Given the description of an element on the screen output the (x, y) to click on. 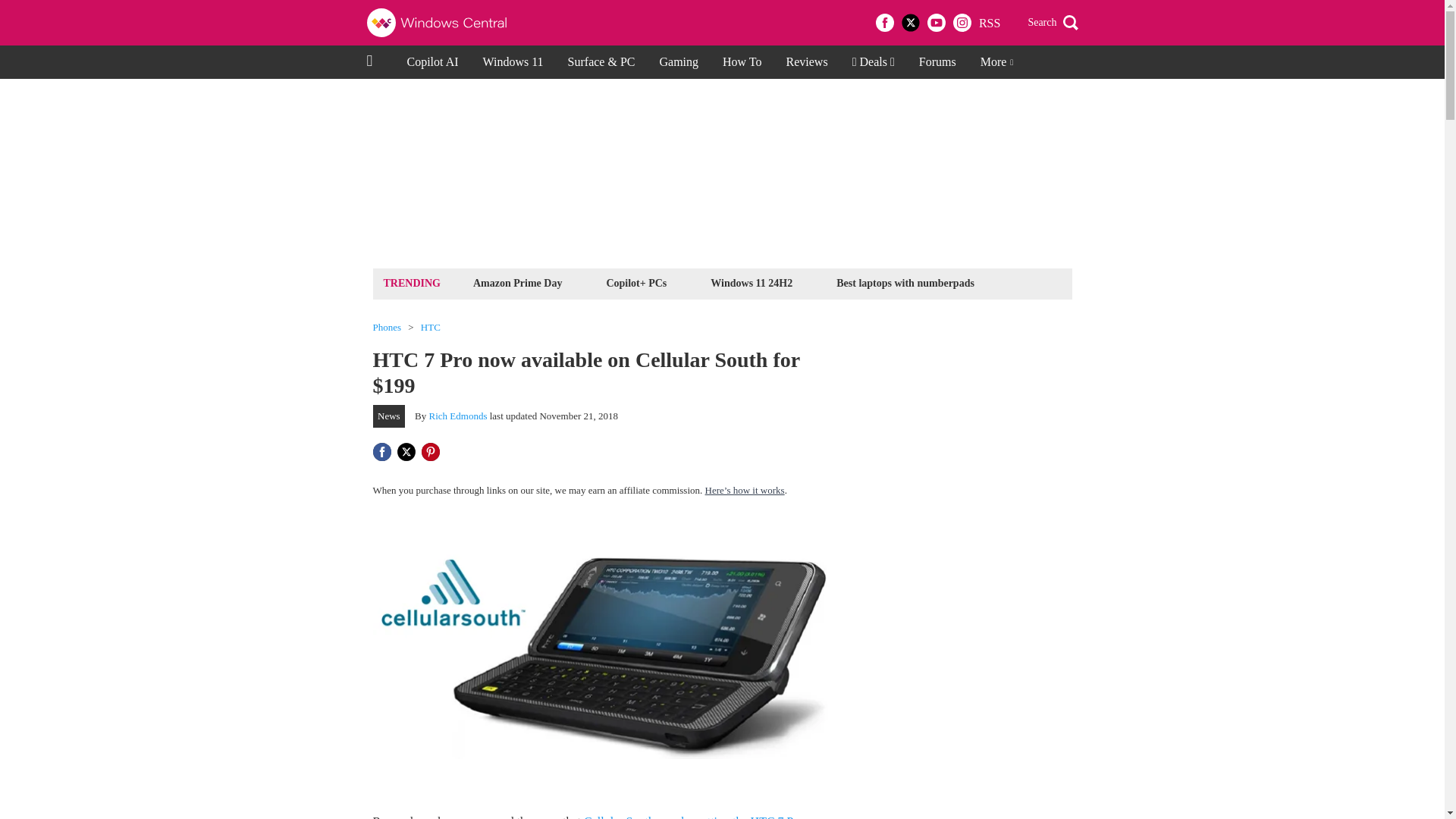
Cellular South may be getting the HTC 7 Pro (693, 816)
Copilot AI (432, 61)
Gaming (678, 61)
Reviews (807, 61)
Best laptops with numberpads (905, 282)
HTC (430, 327)
Windows 11 (513, 61)
Phones (386, 327)
News (389, 415)
Forums (937, 61)
Rich Edmonds (458, 415)
Amazon Prime Day (517, 282)
RSS (989, 22)
Windows 11 24H2 (750, 282)
How To (741, 61)
